Given the description of an element on the screen output the (x, y) to click on. 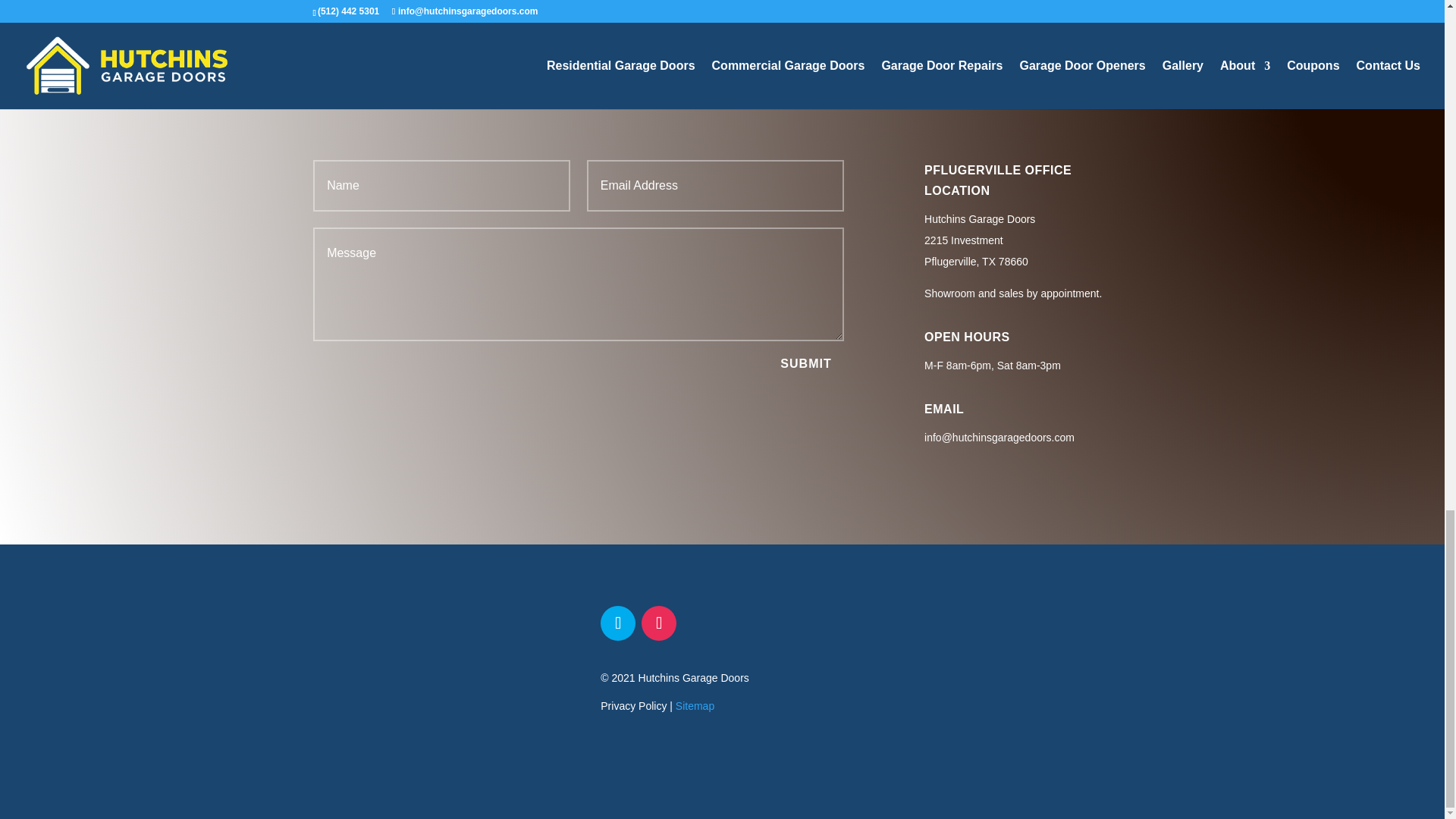
SUBMIT (805, 363)
Follow on Twitter (616, 623)
Follow on Instagram (659, 623)
Sitemap (694, 705)
